Given the description of an element on the screen output the (x, y) to click on. 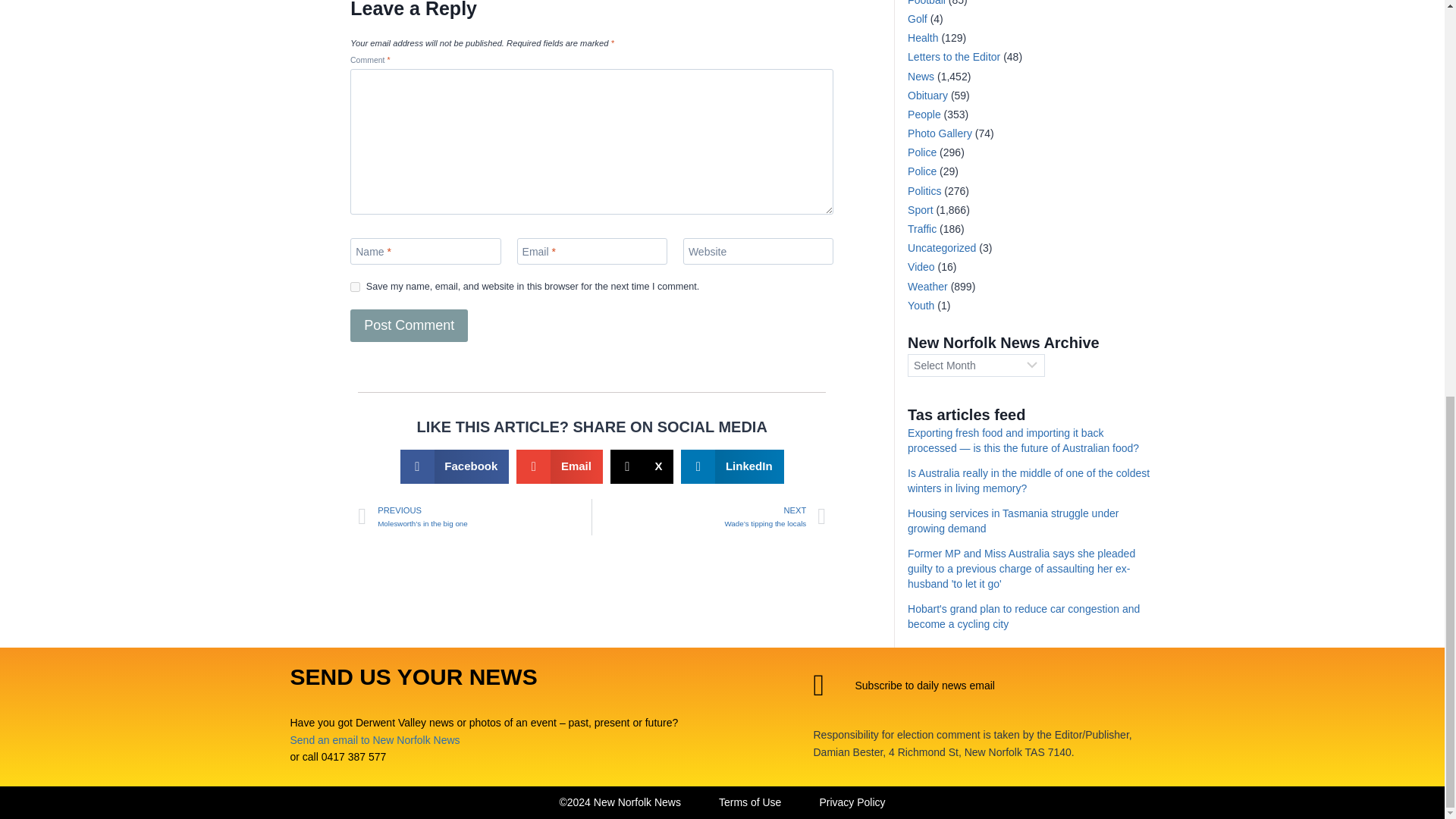
Post Comment (408, 325)
Post Comment (408, 325)
yes (354, 286)
